Given the description of an element on the screen output the (x, y) to click on. 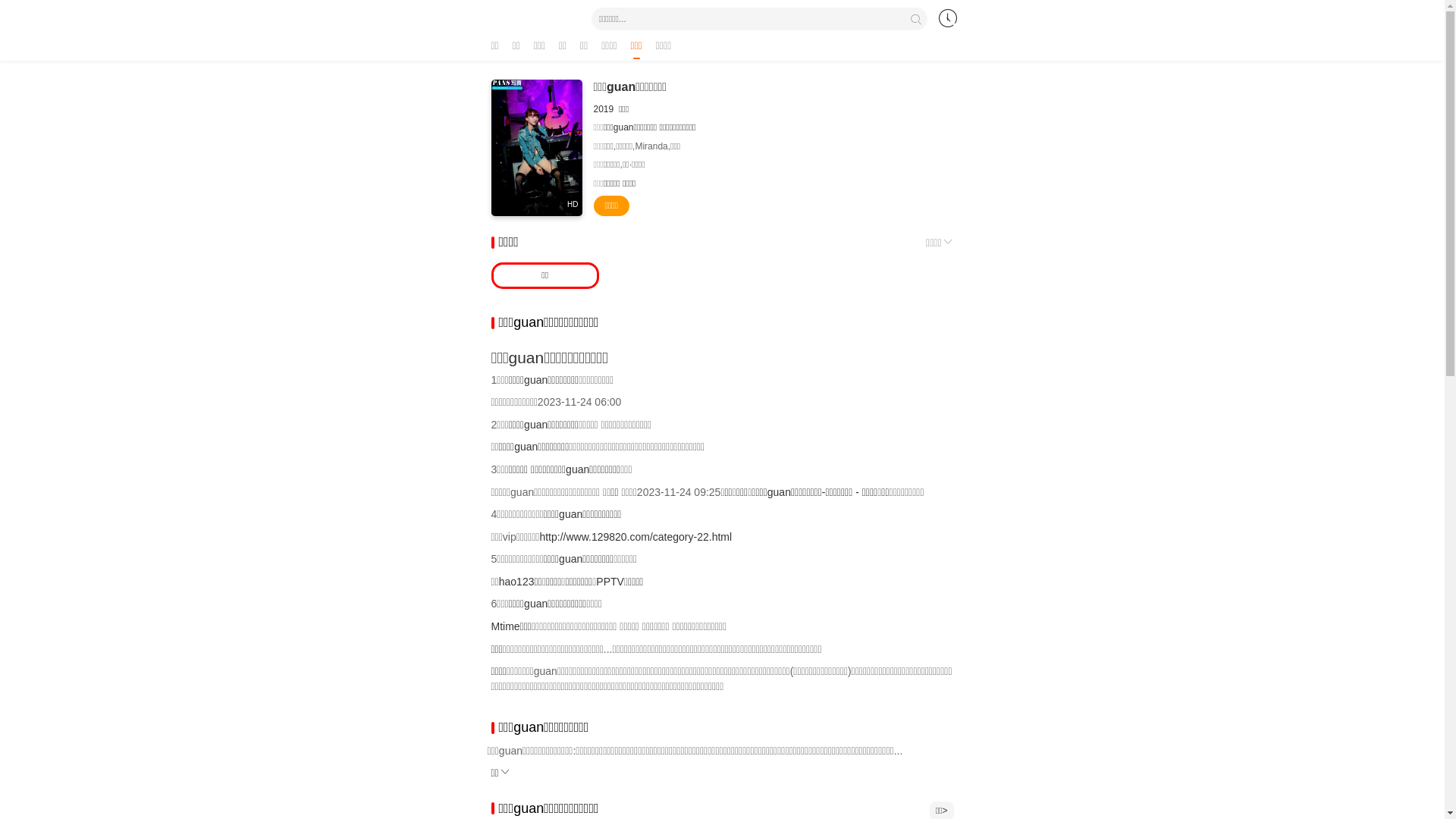
HD Element type: text (536, 147)
PPTV Element type: text (610, 581)
2019 Element type: text (603, 108)
http://www.129820.com/category-22.html Element type: text (635, 536)
